Given the description of an element on the screen output the (x, y) to click on. 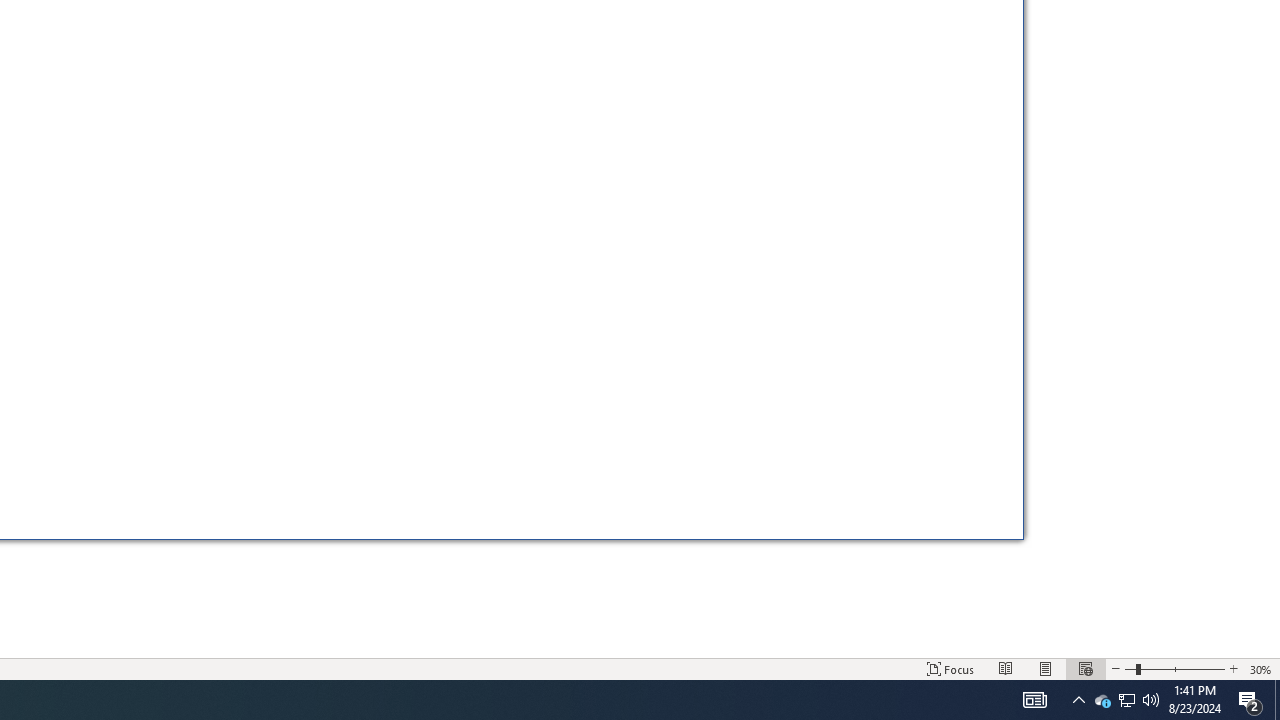
Cancel (939, 511)
